Given the description of an element on the screen output the (x, y) to click on. 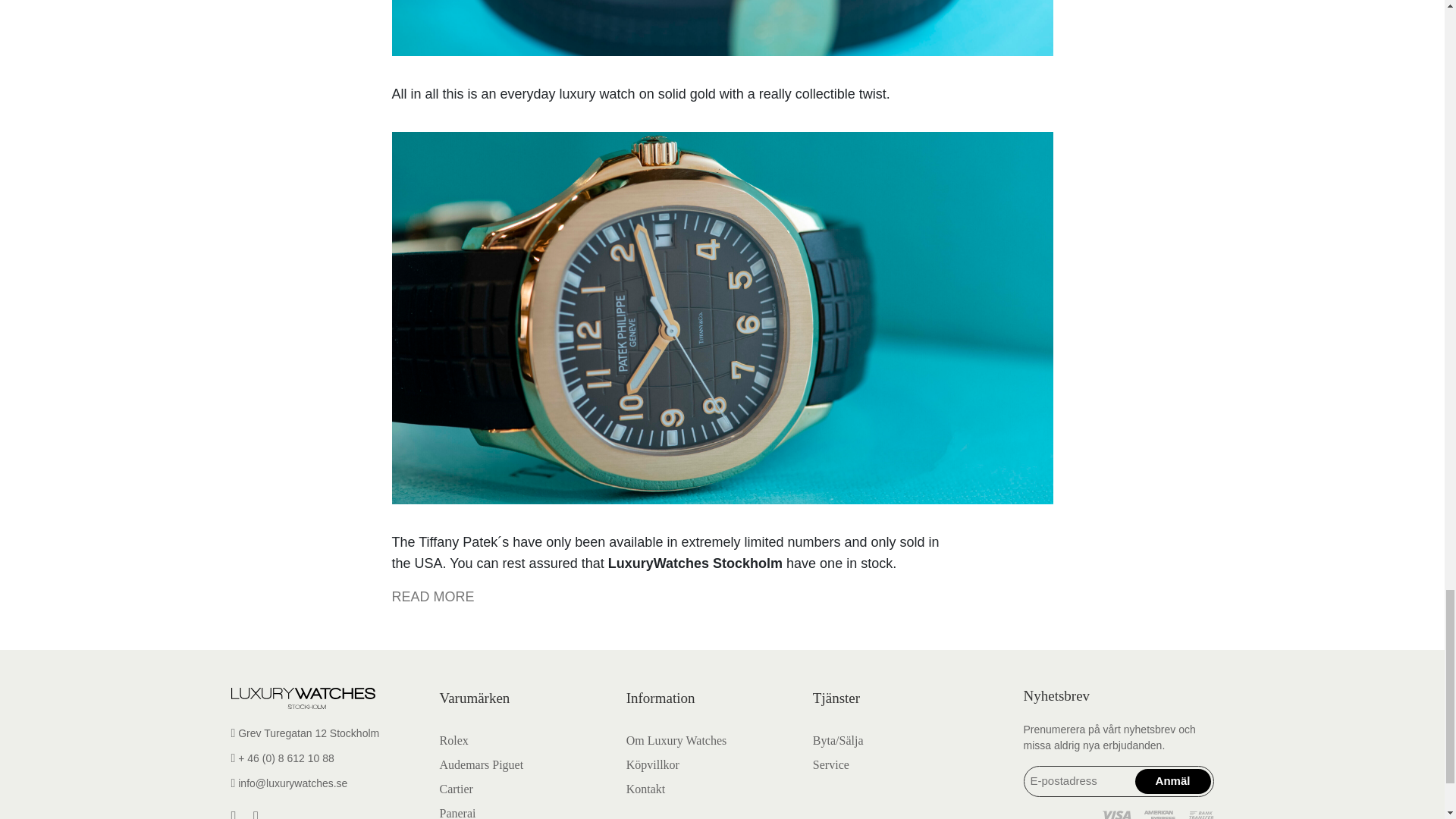
READ MORE (432, 596)
Rolex (453, 739)
Audemars Piguet (481, 764)
Grev Turegatan 12 Stockholm (325, 733)
